Given the description of an element on the screen output the (x, y) to click on. 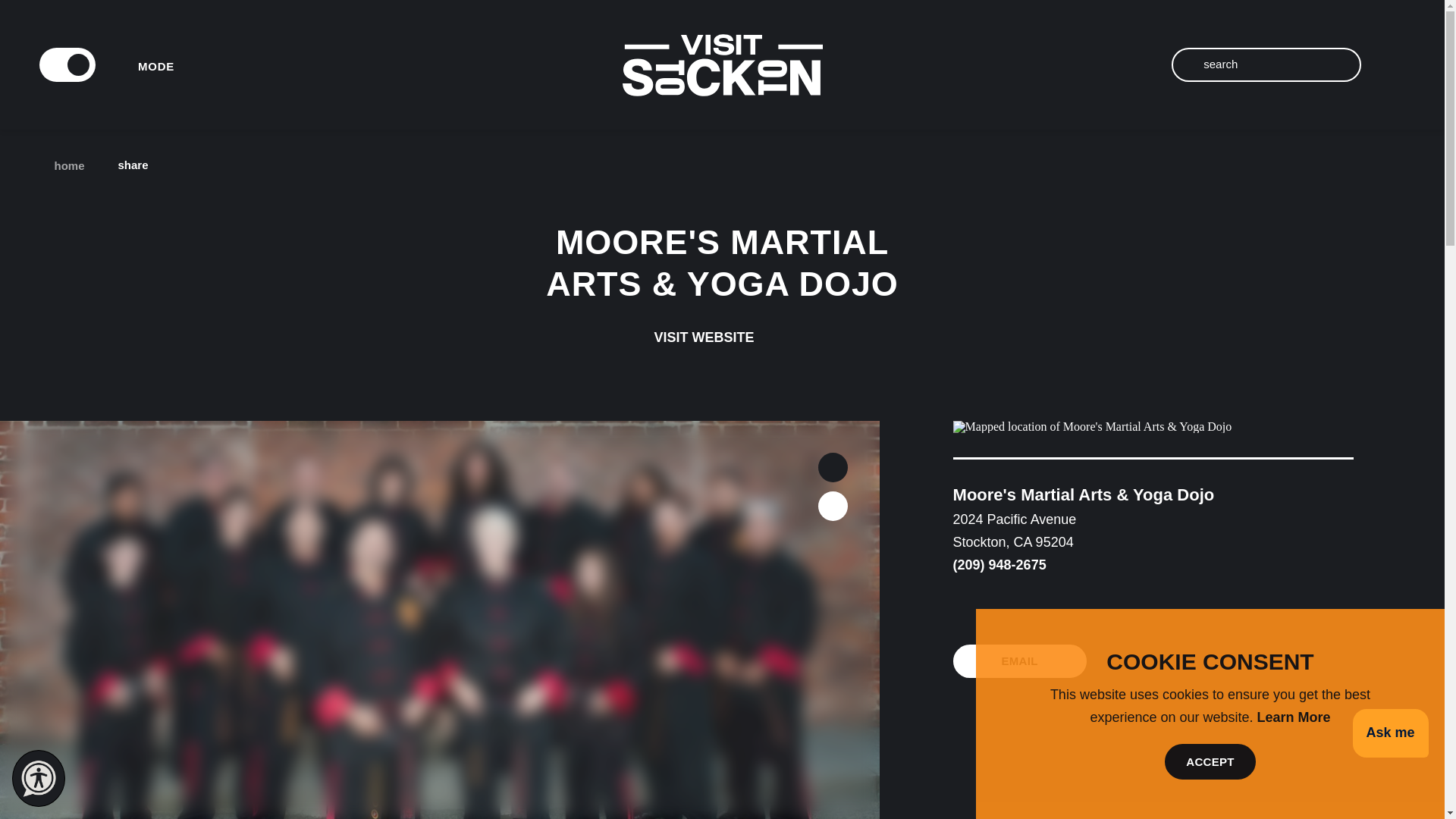
share (144, 165)
EMAIL (1019, 661)
Learn More (1293, 717)
VISIT WEBSITE (721, 337)
home (64, 165)
ACCEPT (1210, 761)
Ask me (1390, 733)
Skip to content (57, 15)
